Given the description of an element on the screen output the (x, y) to click on. 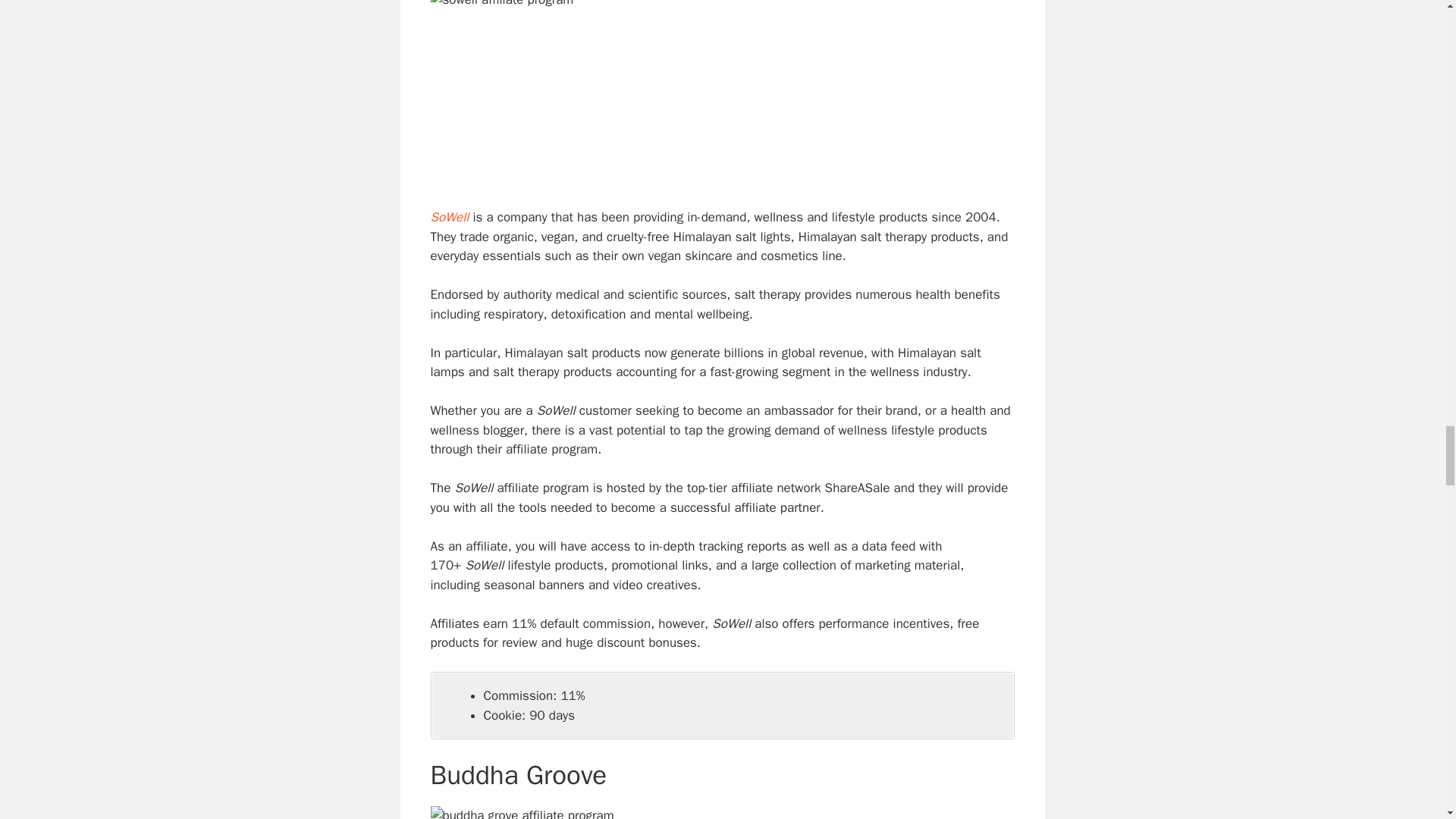
SoWell (449, 217)
